Given the description of an element on the screen output the (x, y) to click on. 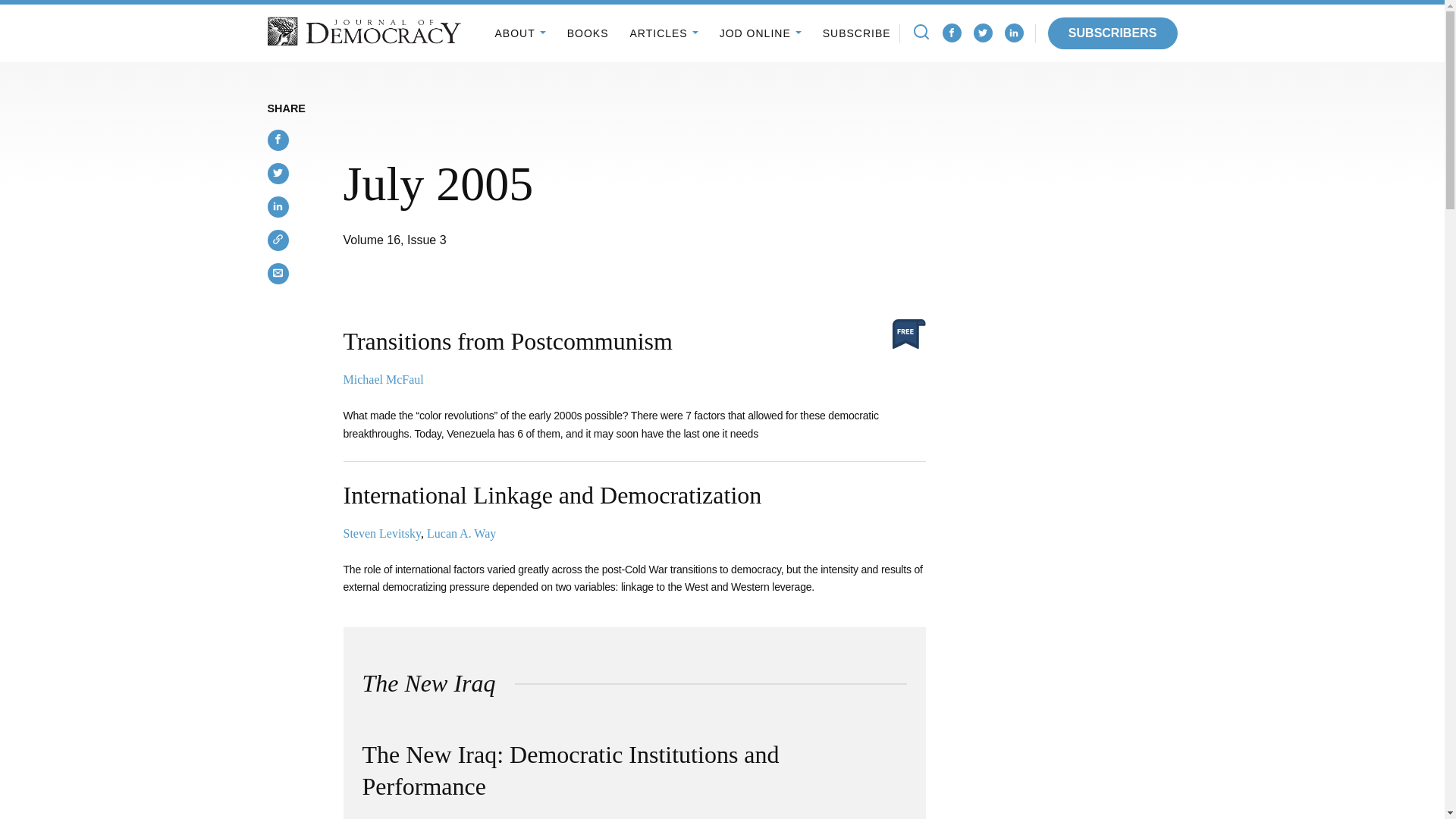
SUBSCRIBE (856, 33)
International Linkage and Democratization (551, 494)
search (921, 31)
The New Iraq: Democratic Institutions and Performance (570, 770)
ABOUT (519, 33)
JOD ONLINE (760, 33)
ARTICLES (662, 33)
Twitter (983, 32)
Lucan A. Way (461, 533)
Steven Levitsky (381, 533)
